Given the description of an element on the screen output the (x, y) to click on. 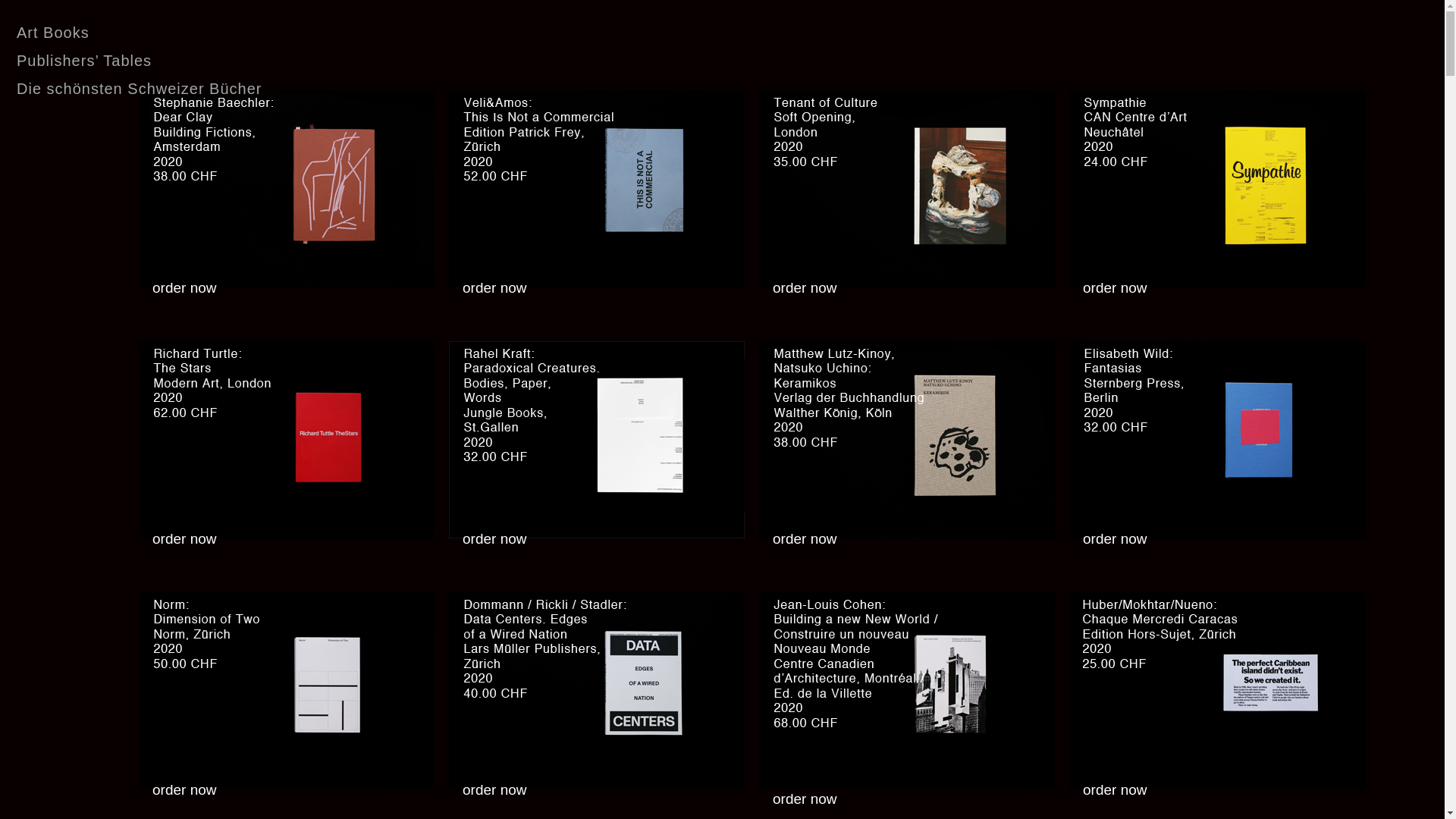
order now Element type: text (1114, 539)
order now Element type: text (494, 288)
order now Element type: text (494, 539)
order now Element type: text (804, 799)
order now Element type: text (184, 790)
order now Element type: text (494, 790)
order now Element type: text (1114, 790)
order now Element type: text (804, 288)
order now Element type: text (184, 288)
order now Element type: text (1114, 288)
order now Element type: text (184, 539)
Art Books Element type: text (52, 31)
order now Element type: text (804, 539)
